Given the description of an element on the screen output the (x, y) to click on. 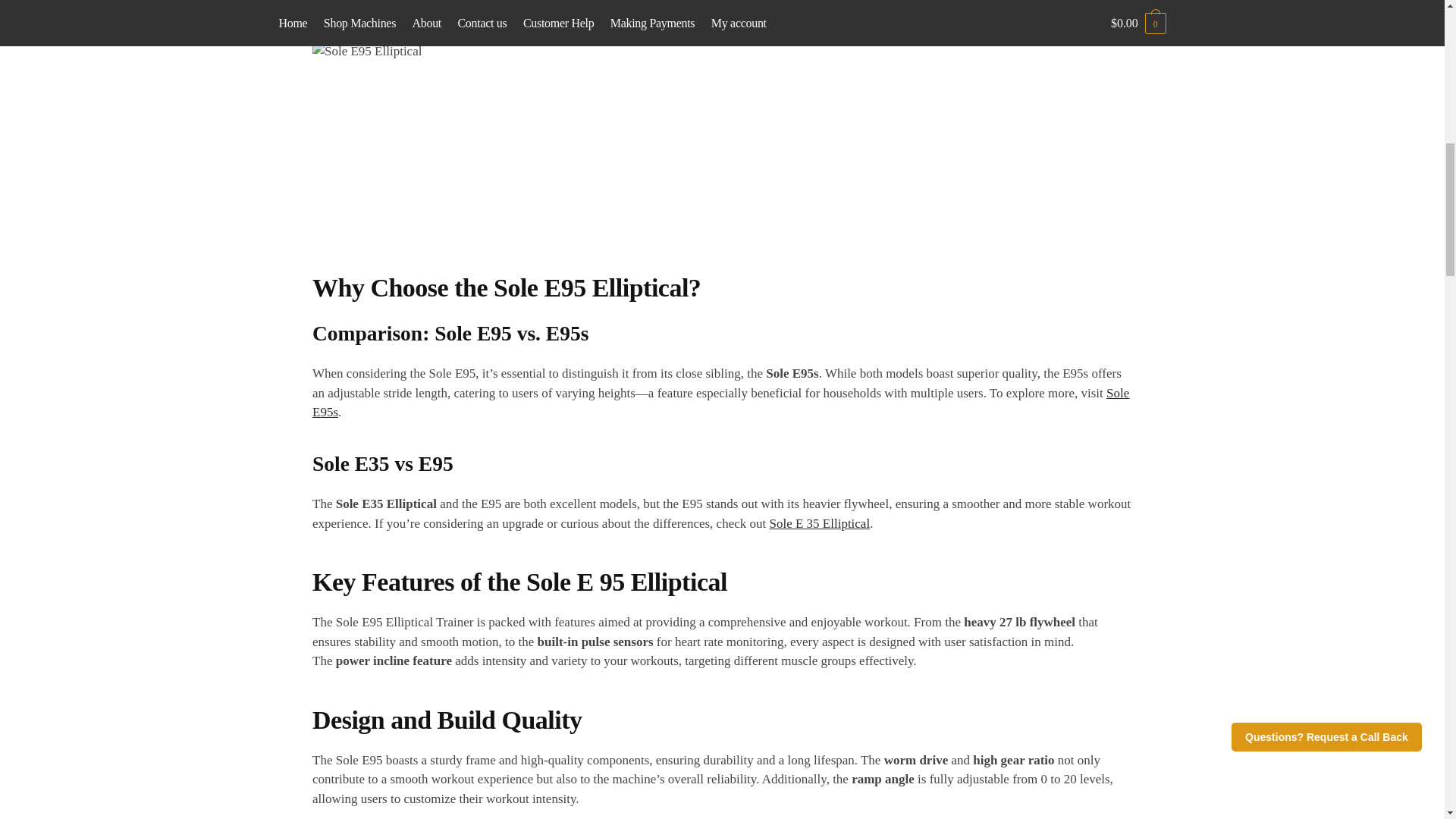
Sole E 35 Elliptical (818, 523)
Sole E95s (721, 402)
Sole E95 Elliptical (551, 156)
Select options (1120, 203)
